Given the description of an element on the screen output the (x, y) to click on. 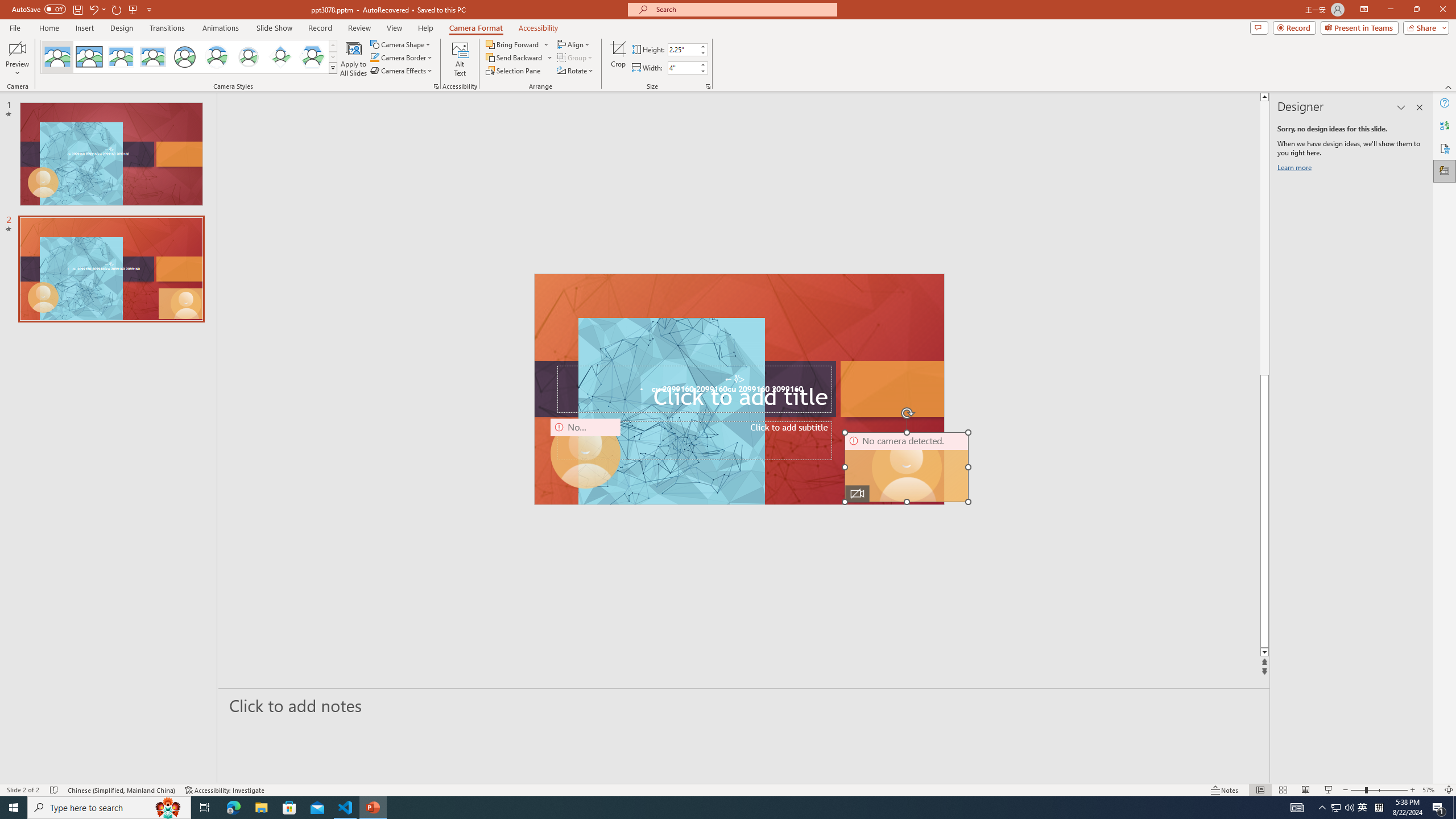
Center Shadow Rectangle (120, 56)
Center Shadow Hexagon (312, 56)
Camera Effects (402, 69)
Preview (17, 58)
TextBox 7 (734, 379)
Enable Camera Preview (17, 48)
Less (702, 70)
Page up (1427, 238)
Cameo Width (682, 67)
